Given the description of an element on the screen output the (x, y) to click on. 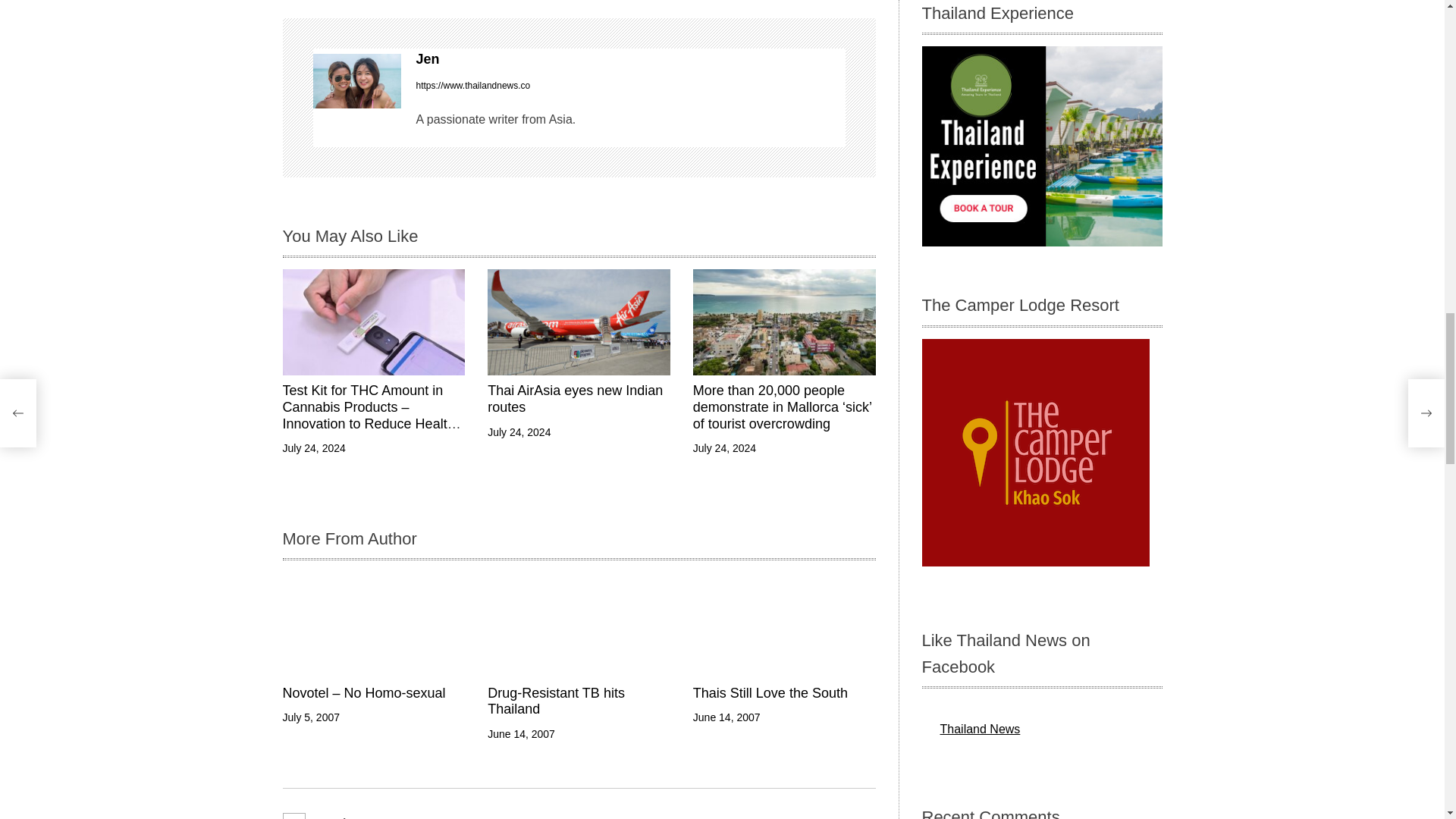
Jen (356, 81)
Jen (629, 59)
